Given the description of an element on the screen output the (x, y) to click on. 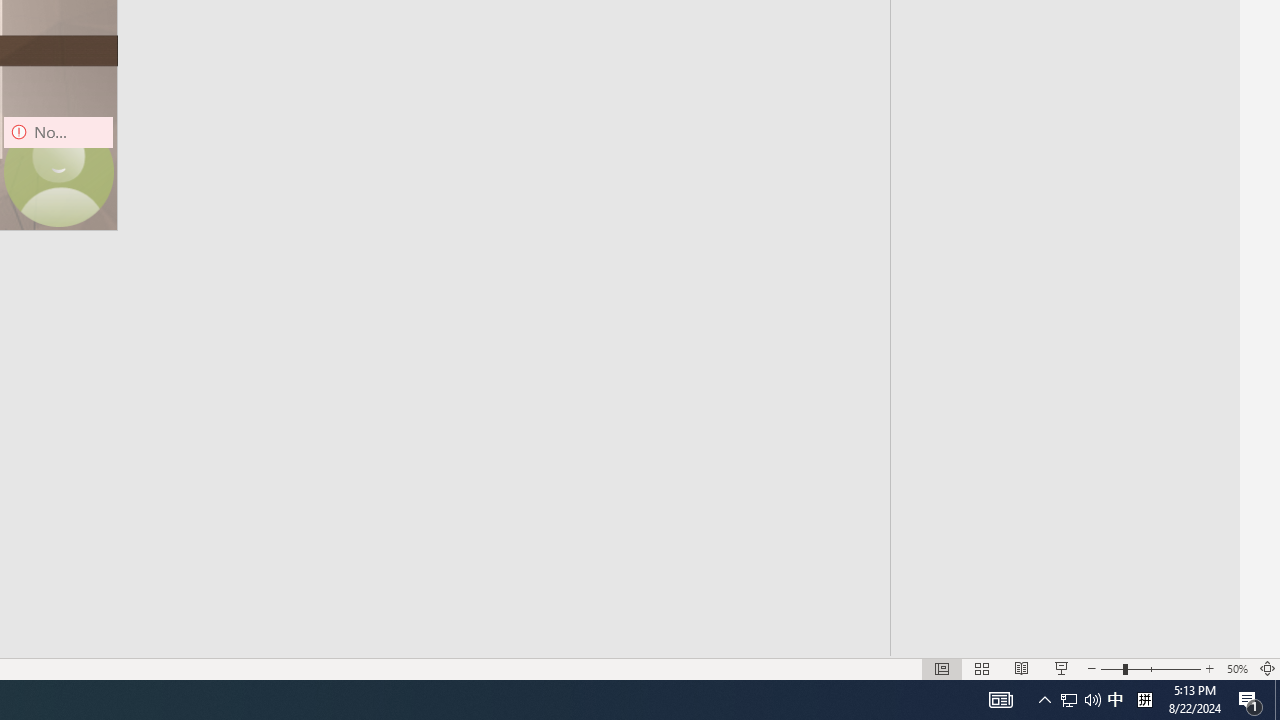
Camera 9, No camera detected. (58, 171)
Zoom 50% (1236, 668)
